Given the description of an element on the screen output the (x, y) to click on. 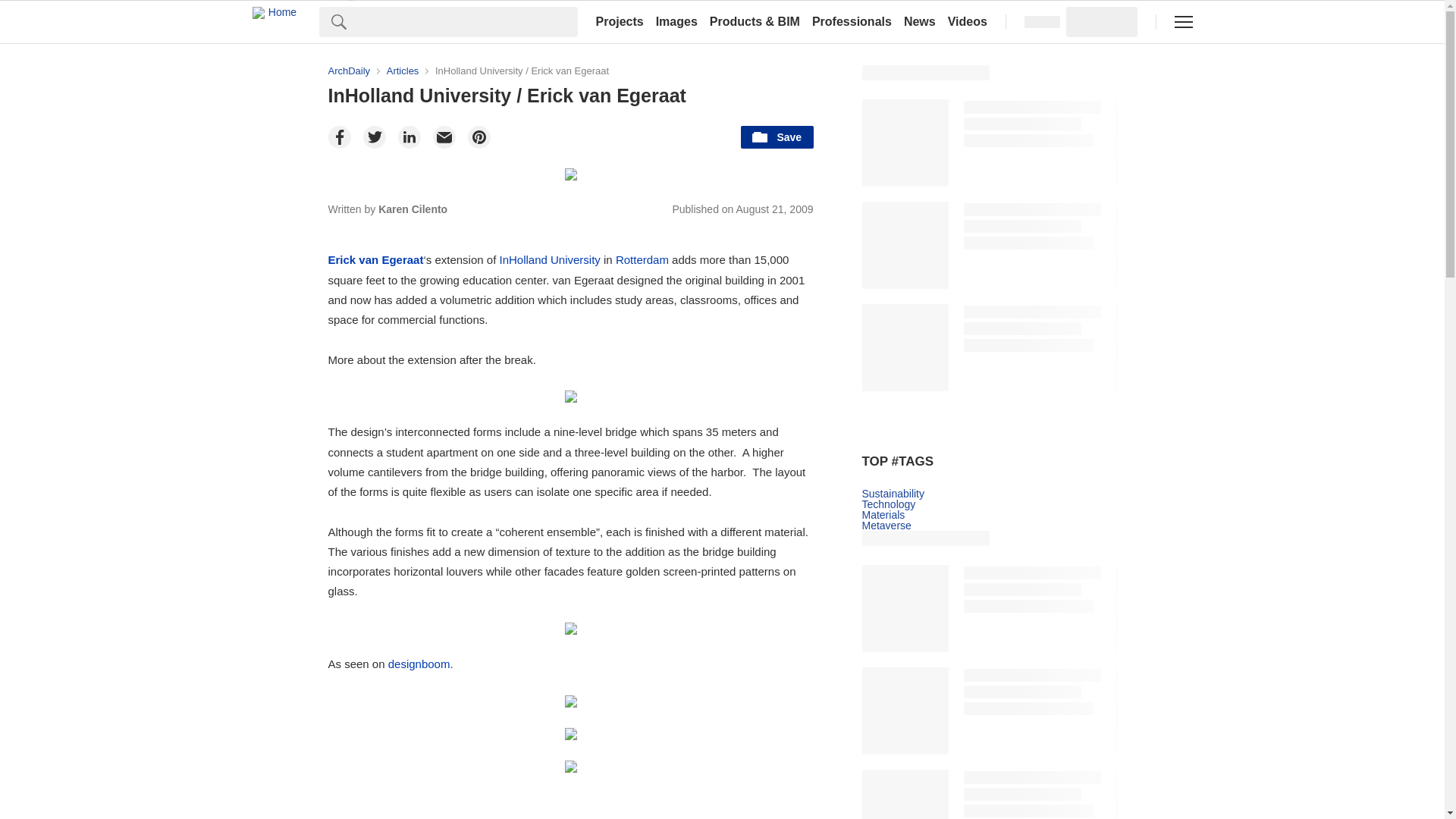
Professionals (852, 21)
Videos (967, 21)
News (920, 21)
Images (676, 21)
Projects (619, 21)
